Given the description of an element on the screen output the (x, y) to click on. 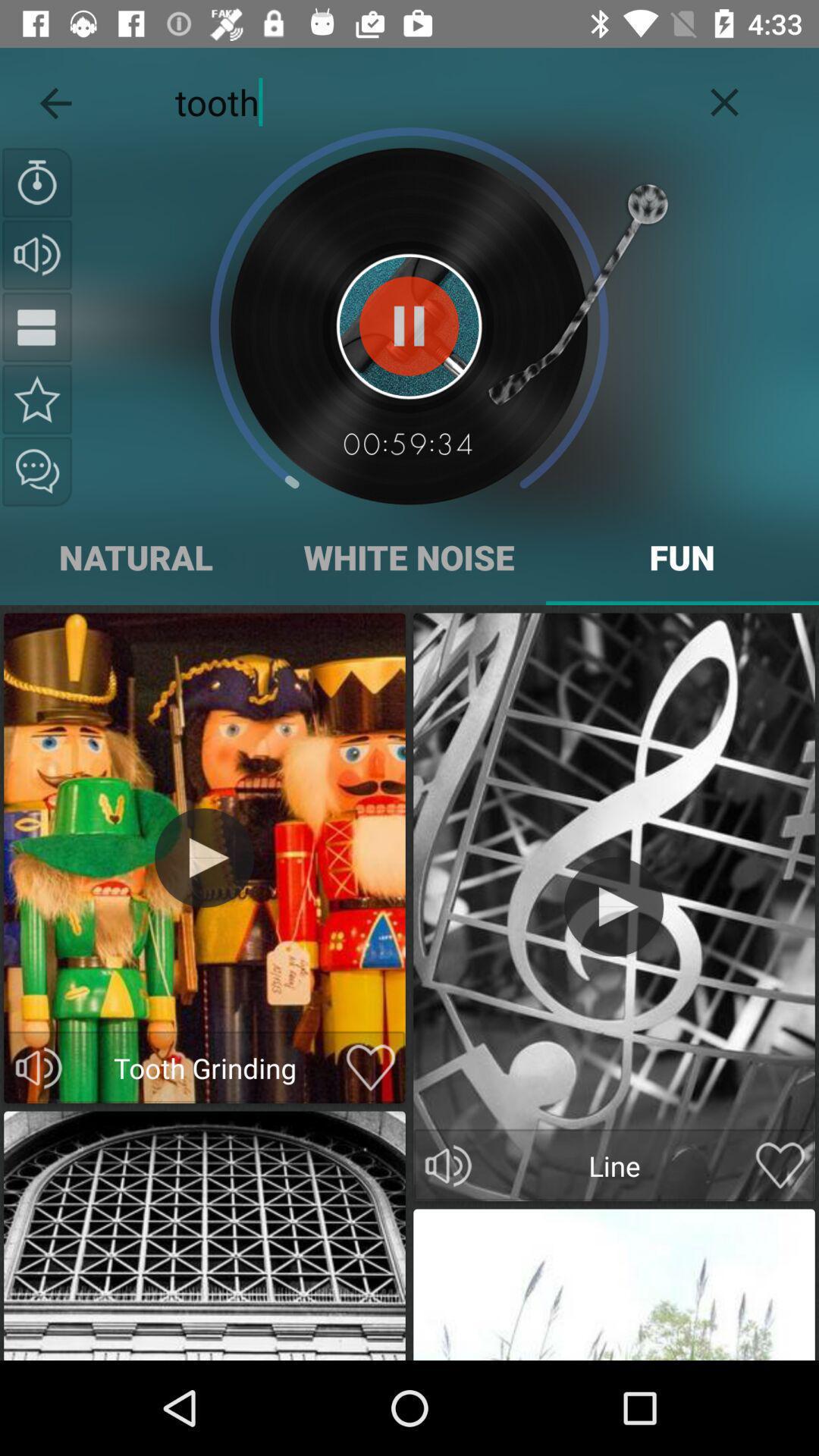
select icon to the right of tooth (724, 99)
